Given the description of an element on the screen output the (x, y) to click on. 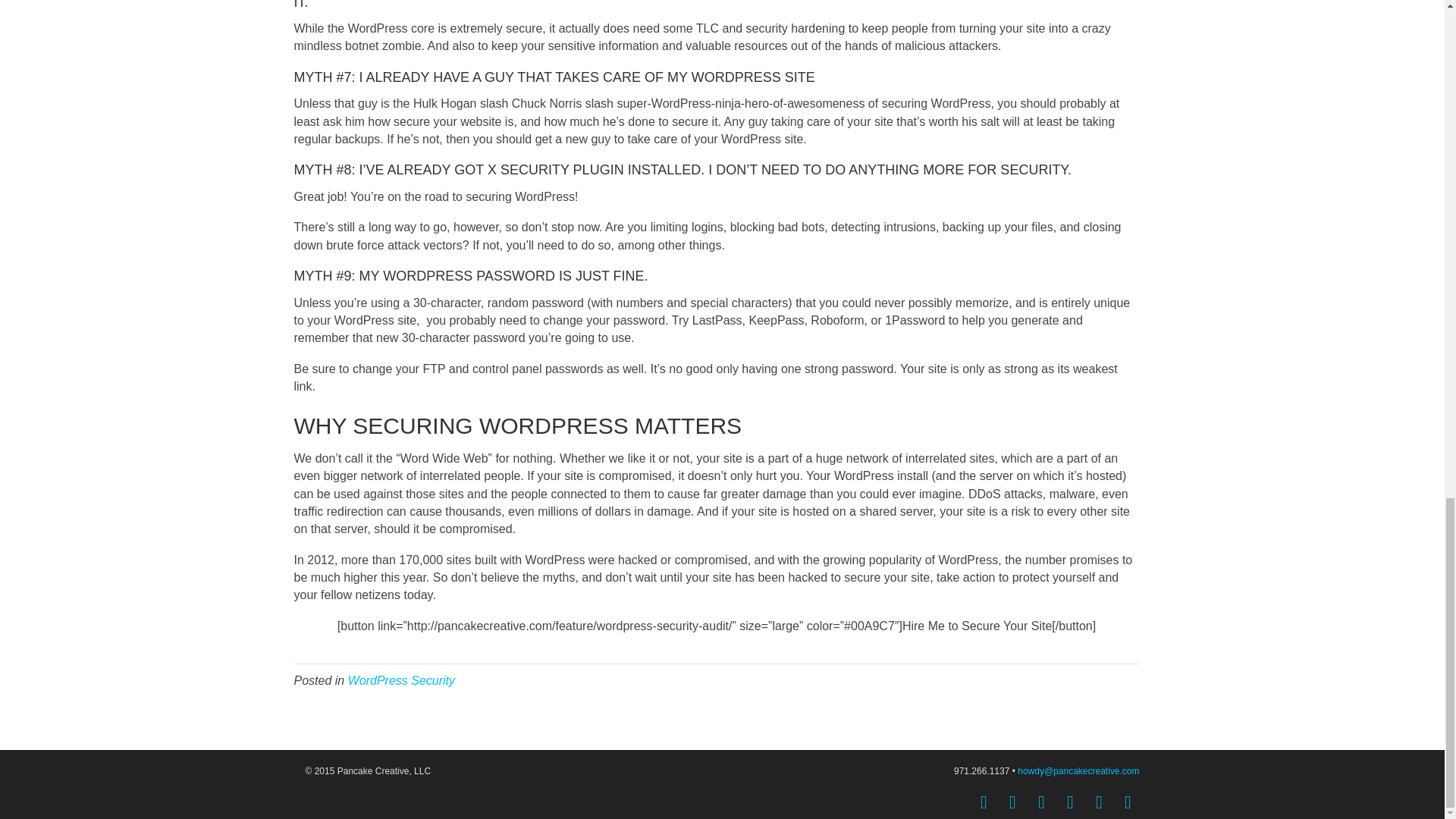
Linkedin (1040, 802)
Instagram (1098, 802)
Youtube (1069, 802)
Email (1127, 802)
WordPress Security (400, 680)
Twitter (1012, 802)
Facebook (983, 802)
